Given the description of an element on the screen output the (x, y) to click on. 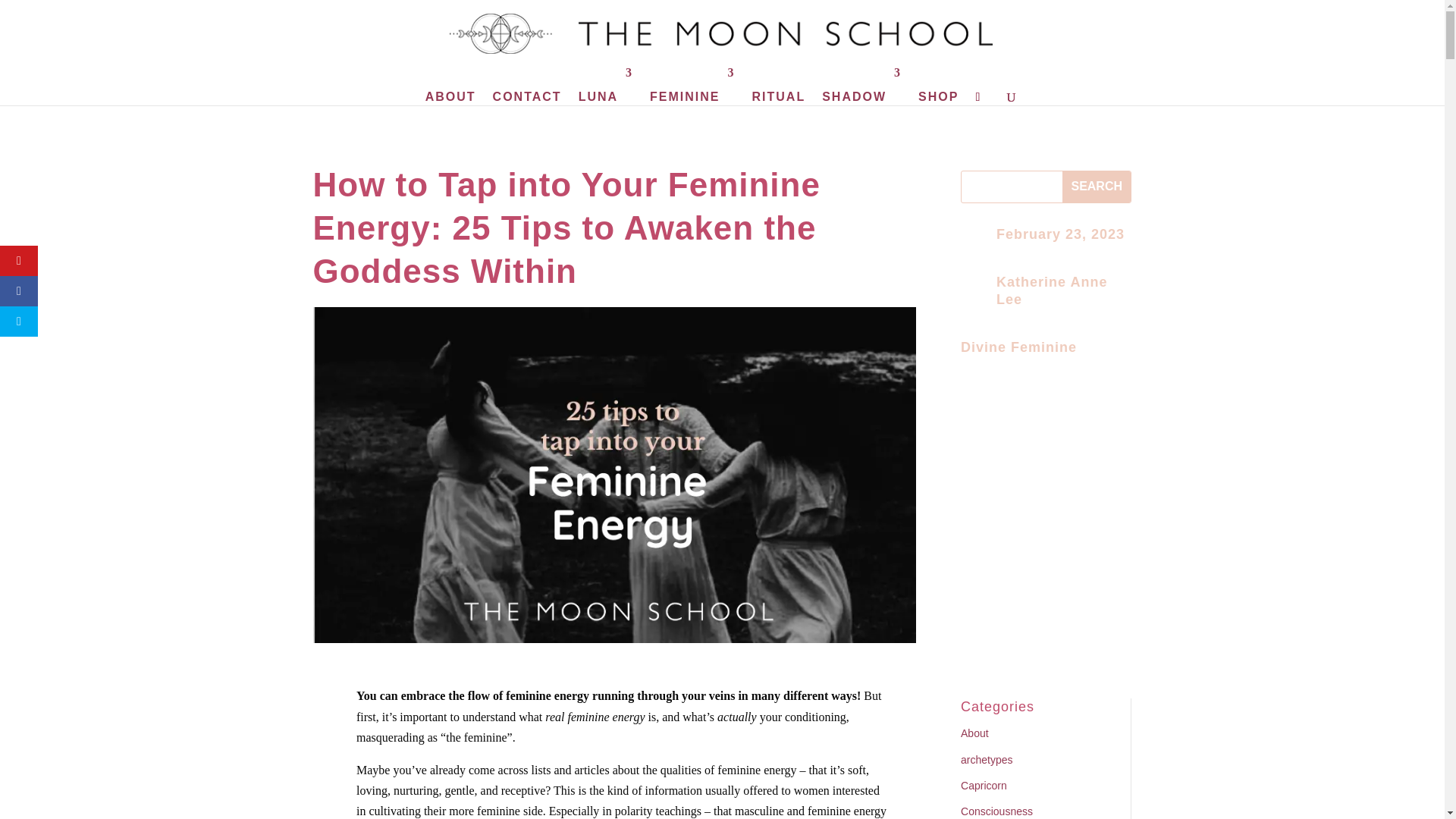
Katherine Anne Lee (1050, 290)
Search (1096, 186)
Search (1096, 186)
SHADOW (861, 84)
Divine Feminine (1018, 346)
About (974, 733)
ABOUT (450, 84)
SHOP (938, 84)
FEMININE (692, 84)
CONTACT (527, 84)
Search (1096, 186)
LUNA (605, 84)
RITUAL (779, 84)
